Given the description of an element on the screen output the (x, y) to click on. 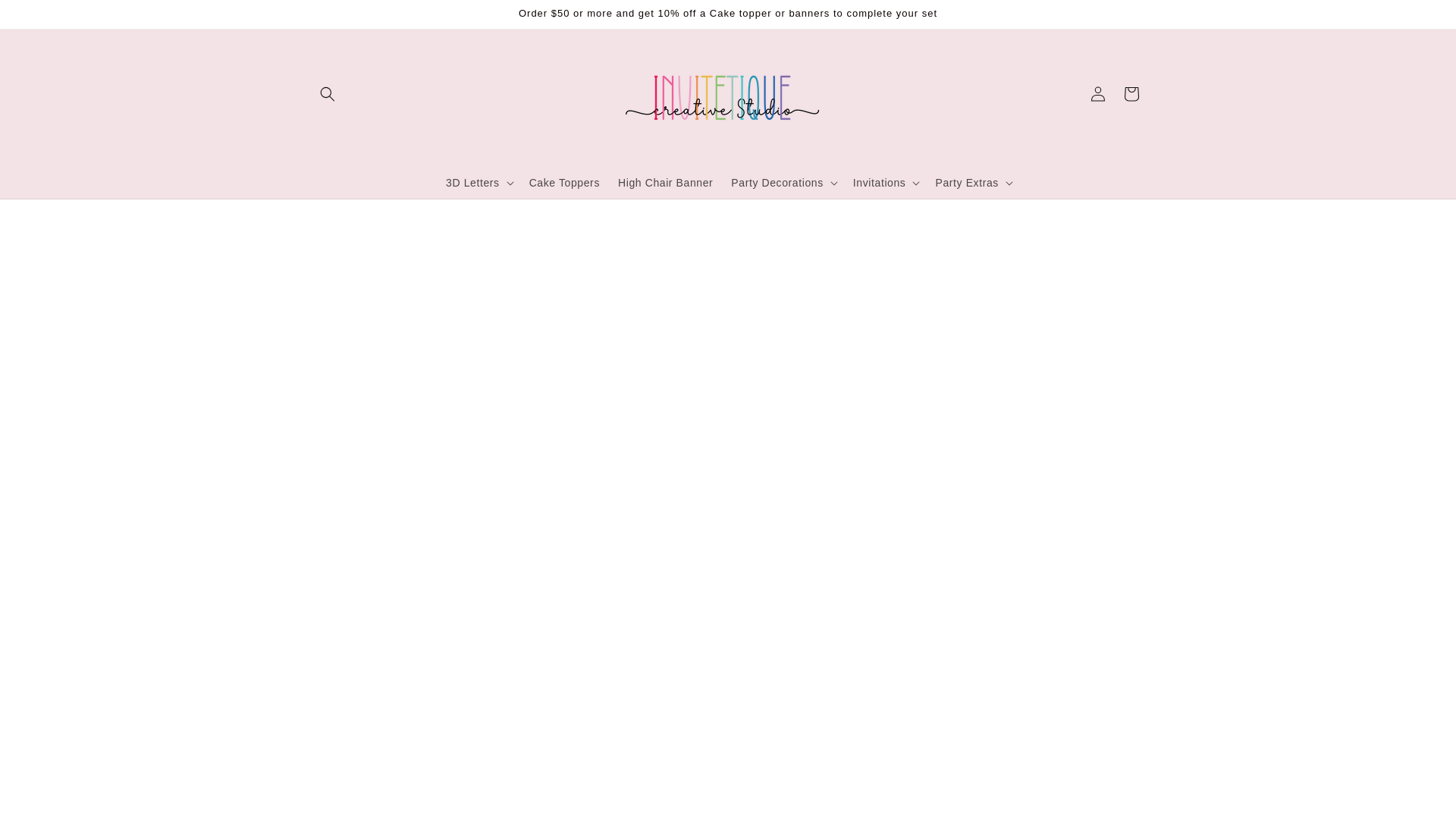
Skip to content (45, 17)
